Given the description of an element on the screen output the (x, y) to click on. 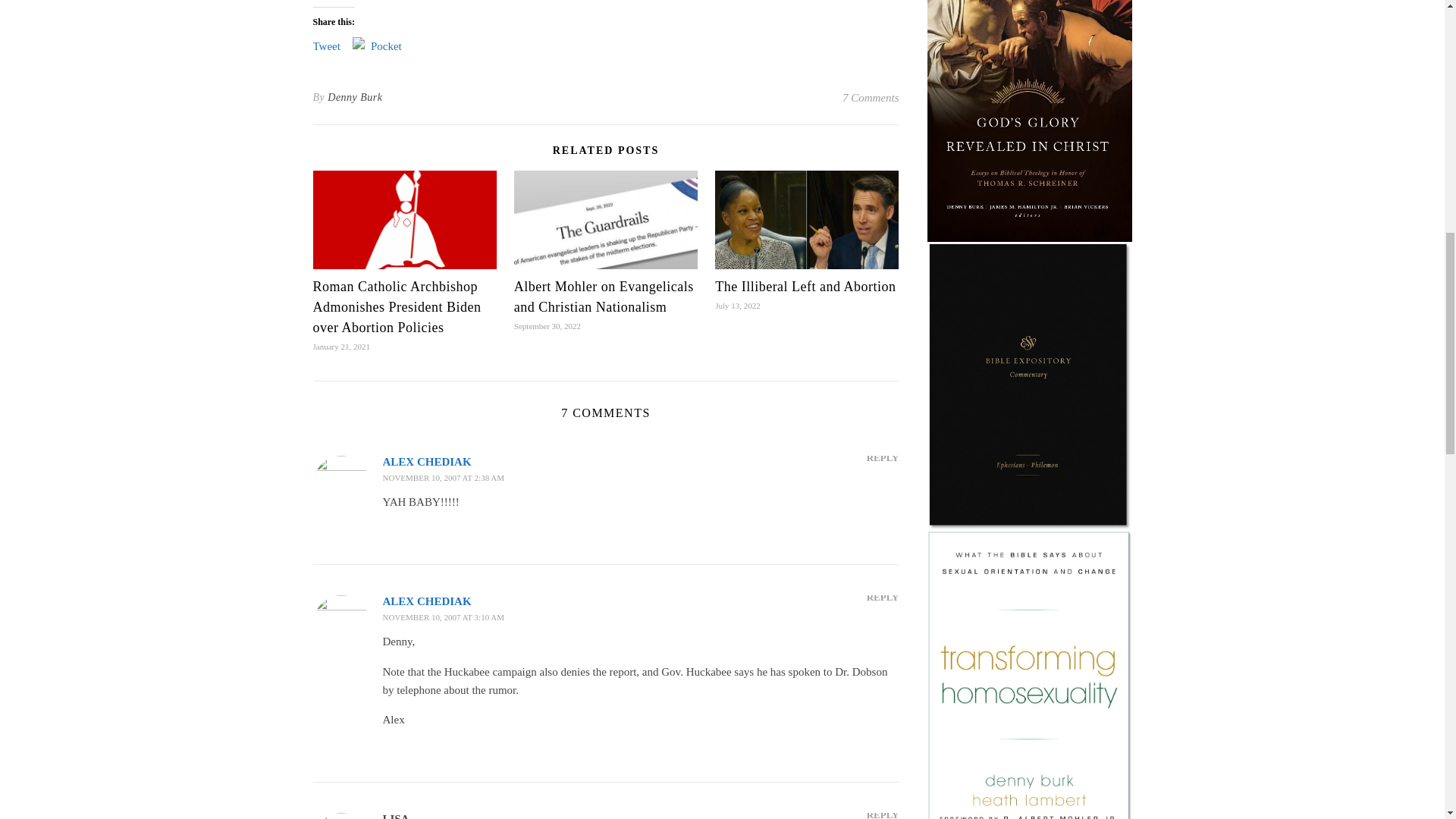
Posts by Denny Burk (354, 97)
NOVEMBER 10, 2007 AT 3:10 AM (442, 616)
REPLY (882, 812)
Denny Burk (354, 97)
The Illiberal Left and Abortion (804, 286)
ALEX CHEDIAK (425, 601)
Albert Mohler on Evangelicals and Christian Nationalism (603, 296)
Tweet (326, 43)
ALEX CHEDIAK (425, 461)
REPLY (882, 456)
Pocket (386, 46)
NOVEMBER 10, 2007 AT 2:38 AM (442, 477)
REPLY (882, 597)
7 Comments (871, 97)
